Given the description of an element on the screen output the (x, y) to click on. 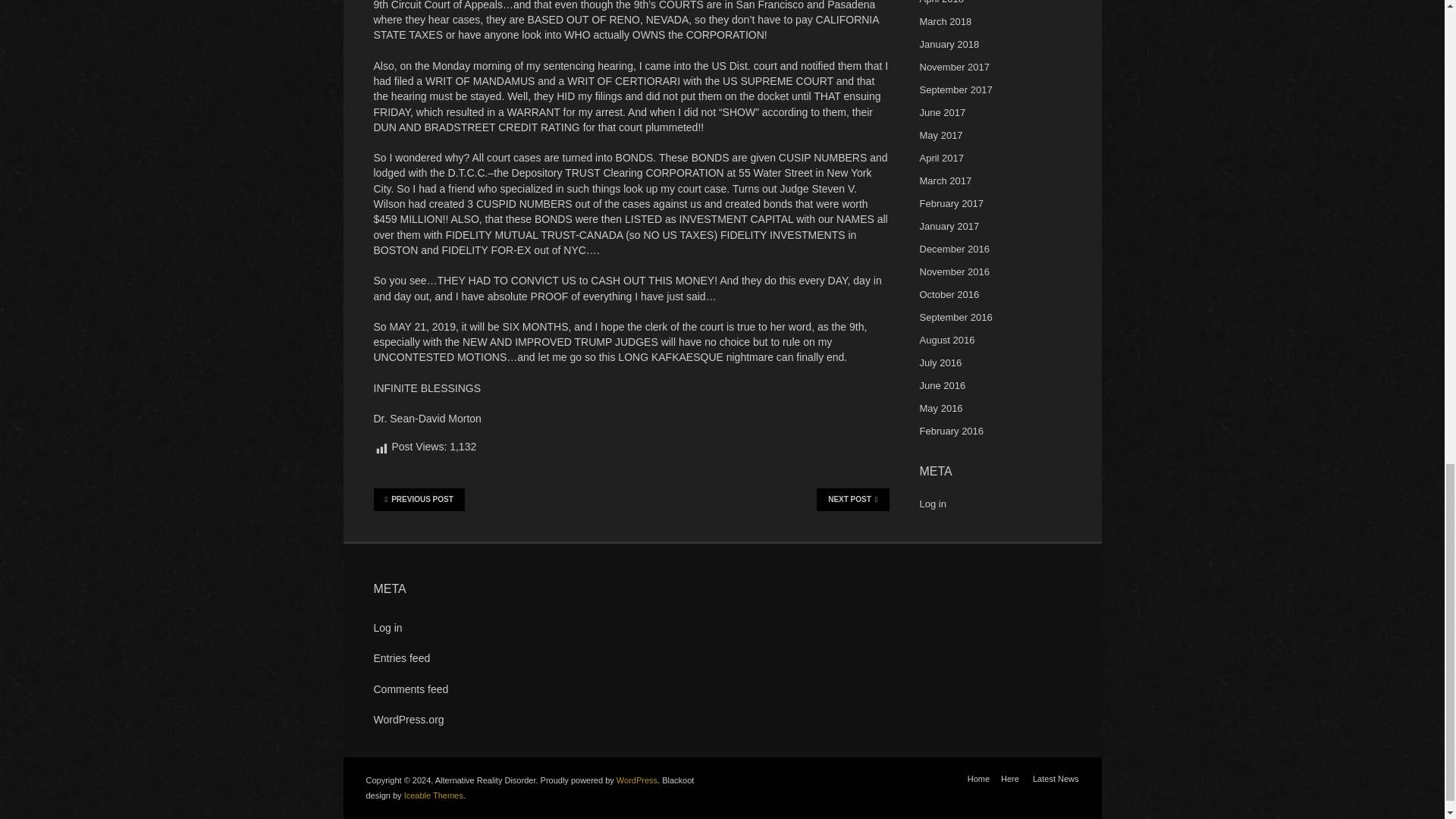
Free and Premium WordPress Themes (433, 795)
Semantic Personal Publishing Platform (636, 779)
NEXT POST (852, 499)
PREVIOUS POST (418, 499)
